Given the description of an element on the screen output the (x, y) to click on. 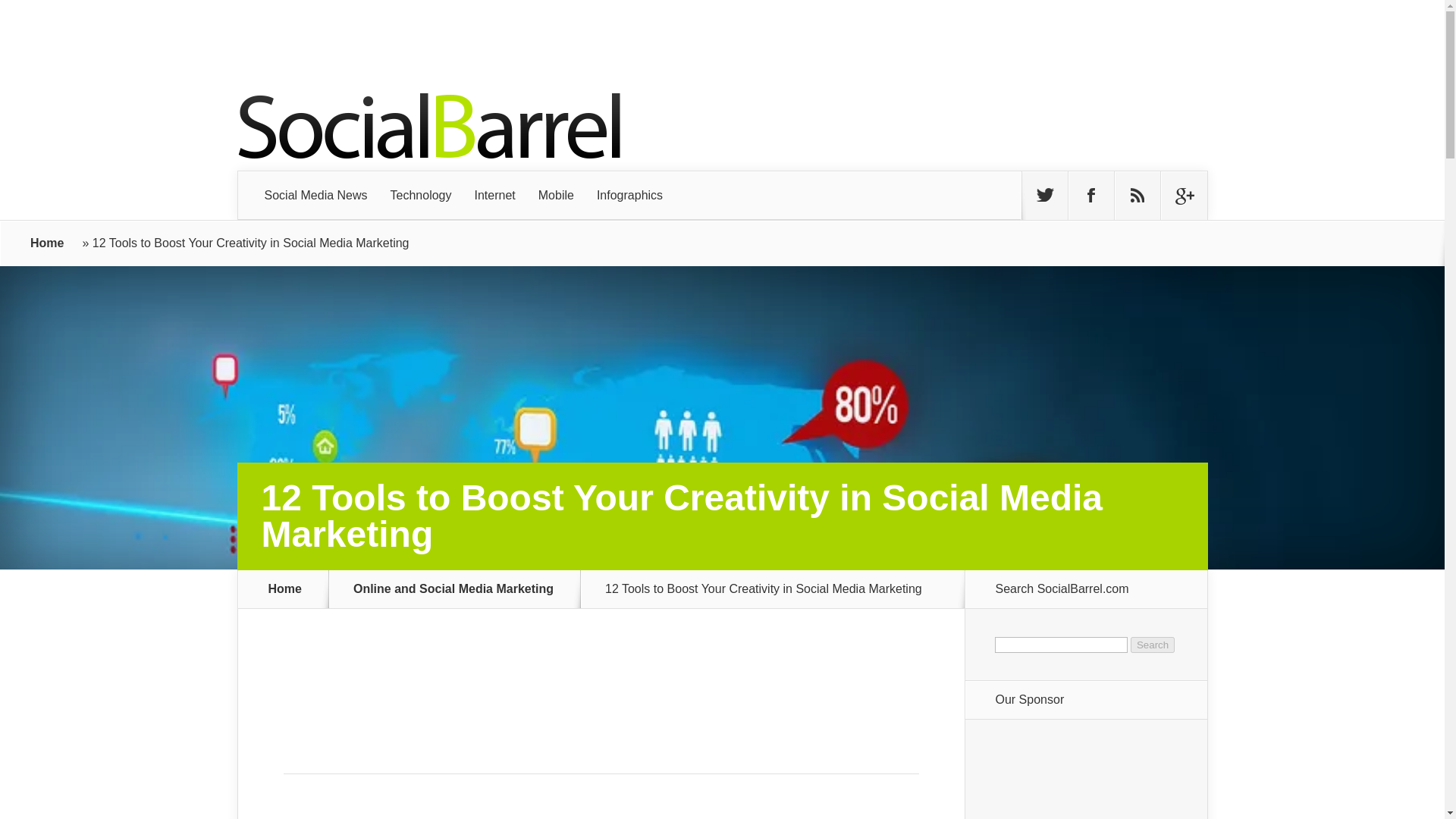
Infographics (629, 195)
Social Media News (315, 195)
Advertisement (600, 689)
Mobile (556, 195)
Technology (420, 195)
Follow us on Twitter (1044, 195)
Internet (495, 195)
Search (1152, 644)
Posts by Malia Keirsey (461, 817)
